Given the description of an element on the screen output the (x, y) to click on. 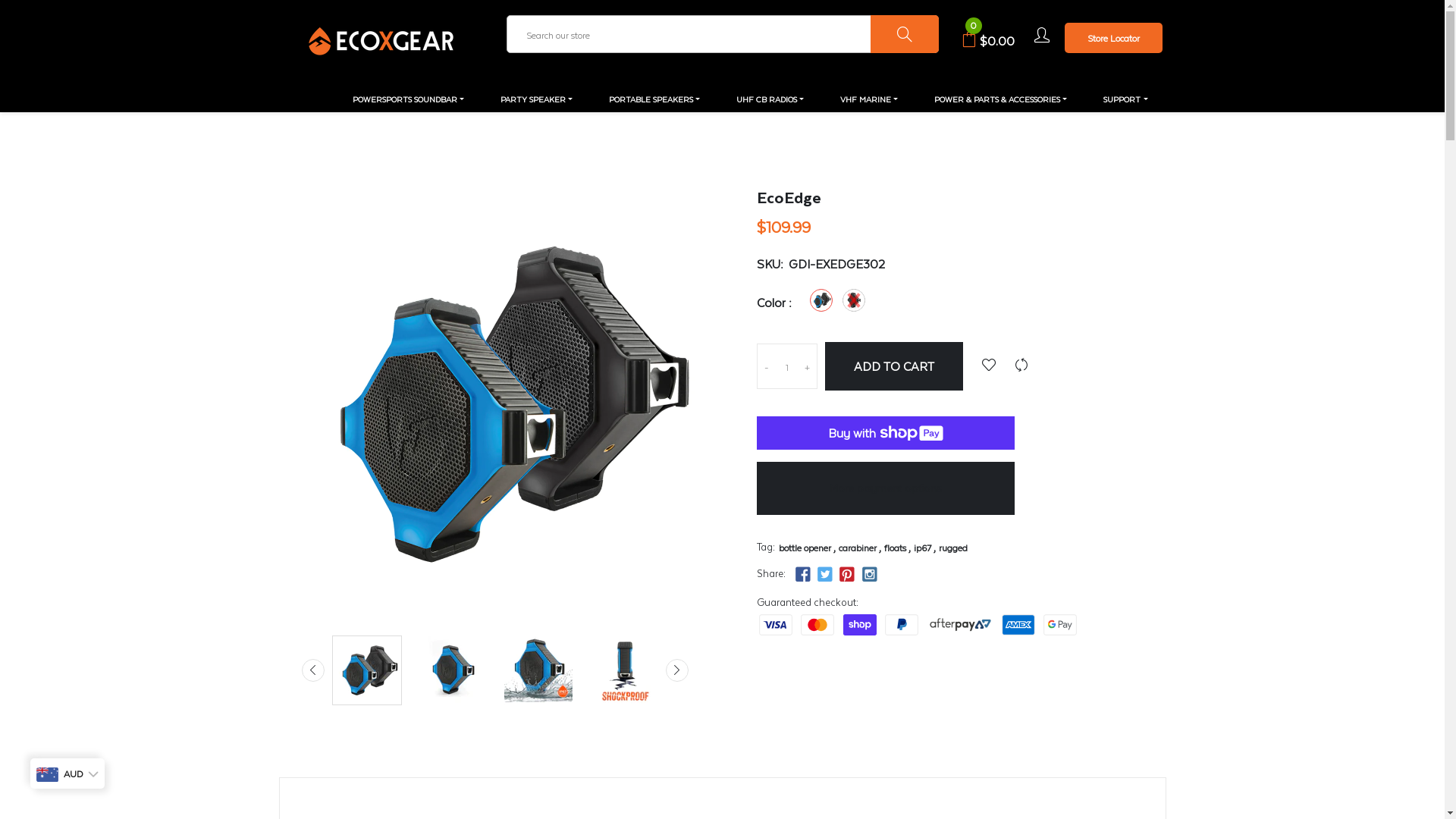
PARTY SPEAKER Element type: text (536, 99)
SUPPORT Element type: text (1125, 99)
More payment options Element type: text (885, 487)
ADD TO CART Element type: text (894, 366)
VHF MARINE Element type: text (869, 99)
rugged Element type: text (952, 547)
Follow us on Instagram Element type: hover (869, 574)
Add to wishlist Element type: hover (987, 365)
floats Element type: text (895, 547)
0
$0.00 Element type: text (987, 40)
Follow us on Pinterest Element type: hover (846, 574)
bottle opener Element type: text (804, 547)
POWERSPORTS SOUNDBAR Element type: text (408, 99)
POWER & PARTS & ACCESSORIES Element type: text (1000, 99)
PORTABLE SPEAKERS Element type: text (654, 99)
Follow us on Twitter Element type: hover (824, 574)
Store Locator Element type: text (1113, 37)
ip67 Element type: text (921, 547)
carabiner Element type: text (857, 547)
Follow us on Facebook Element type: hover (802, 574)
UHF CB RADIOS Element type: text (770, 99)
